Given the description of an element on the screen output the (x, y) to click on. 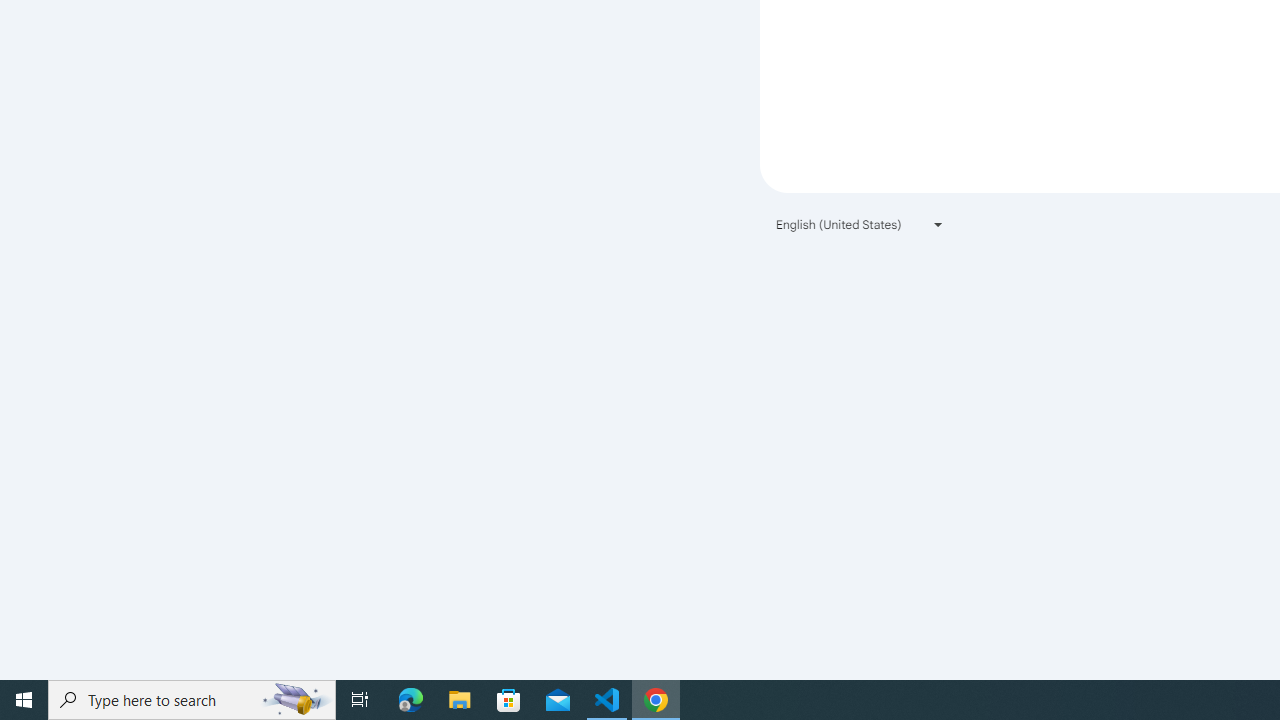
English (United States) (860, 224)
